Given the description of an element on the screen output the (x, y) to click on. 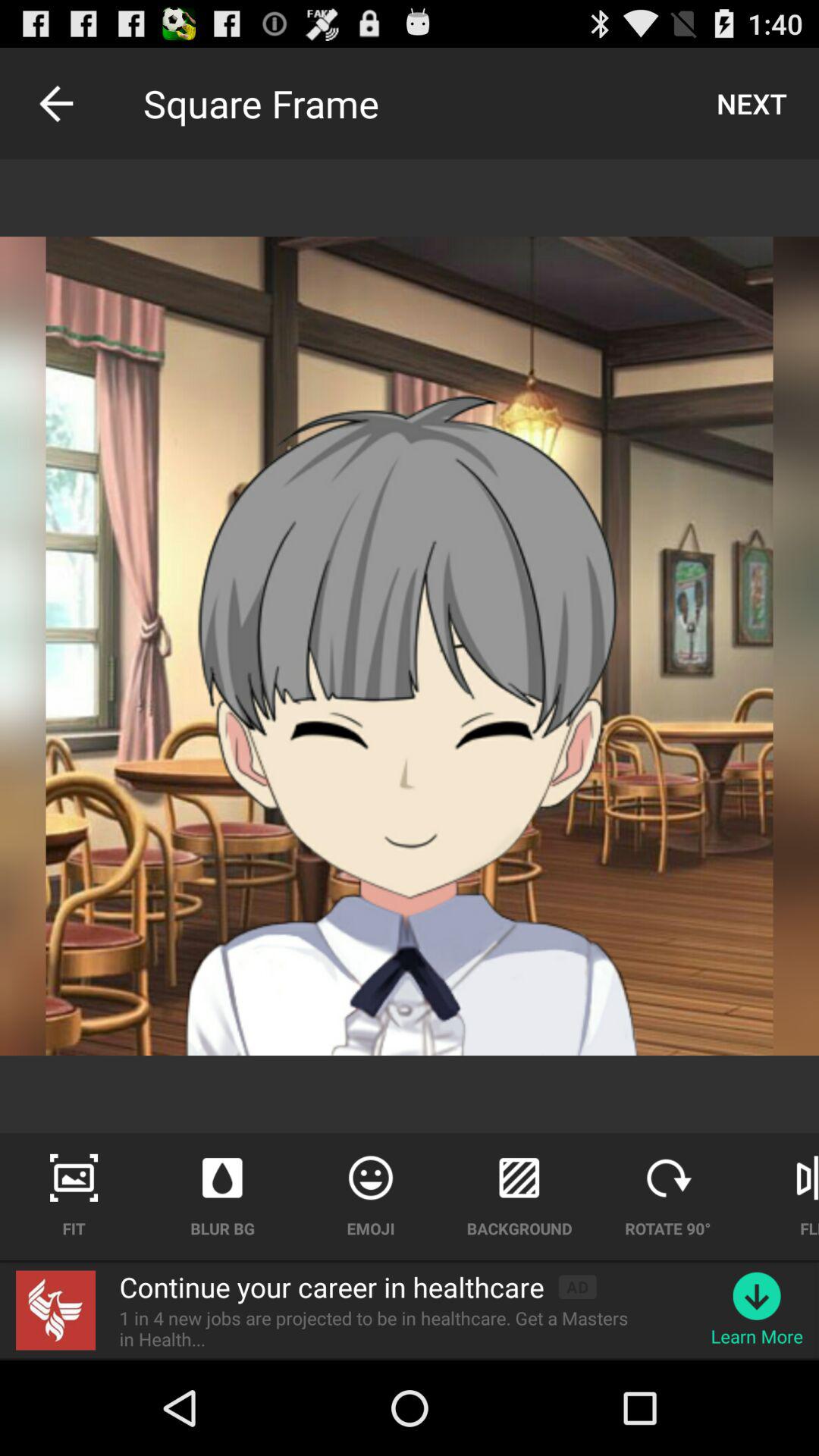
select the app below the continue your career (383, 1328)
